Given the description of an element on the screen output the (x, y) to click on. 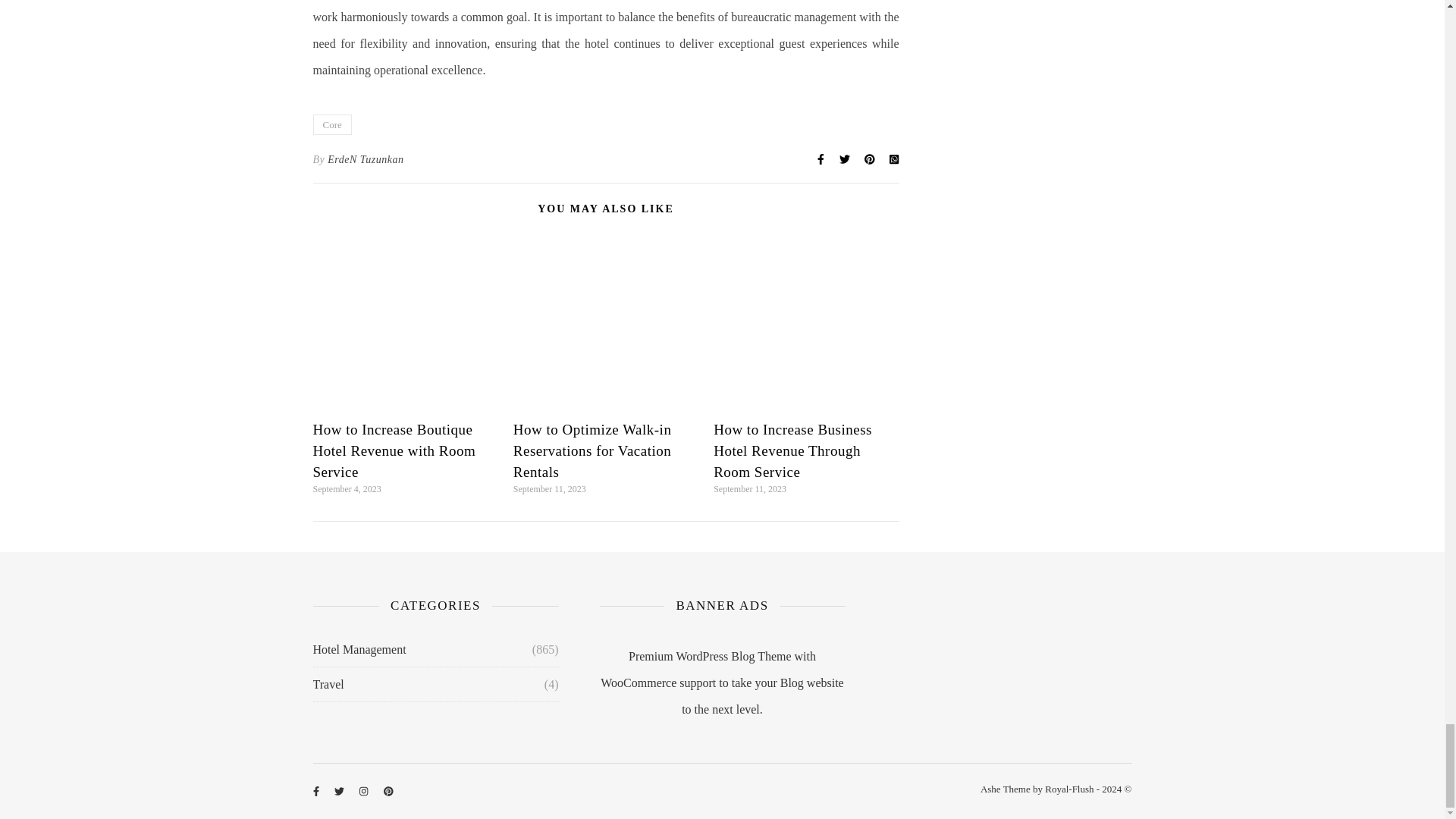
ErdeN Tuzunkan (365, 159)
How to Increase Boutique Hotel Revenue with Room Service (394, 450)
Core (331, 124)
